Given the description of an element on the screen output the (x, y) to click on. 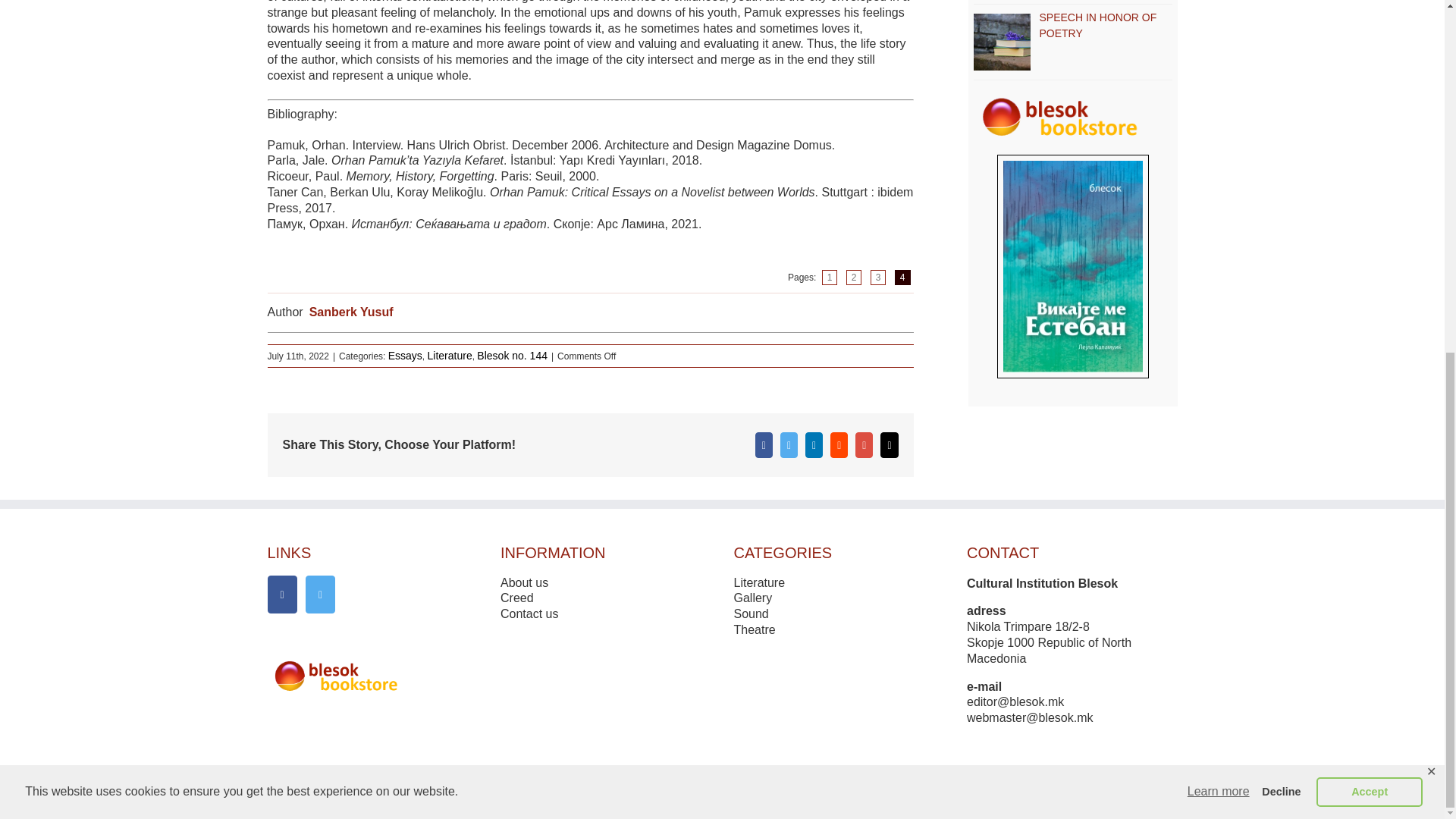
Decline (1281, 177)
Learn more (1218, 177)
Accept (1369, 177)
